Given the description of an element on the screen output the (x, y) to click on. 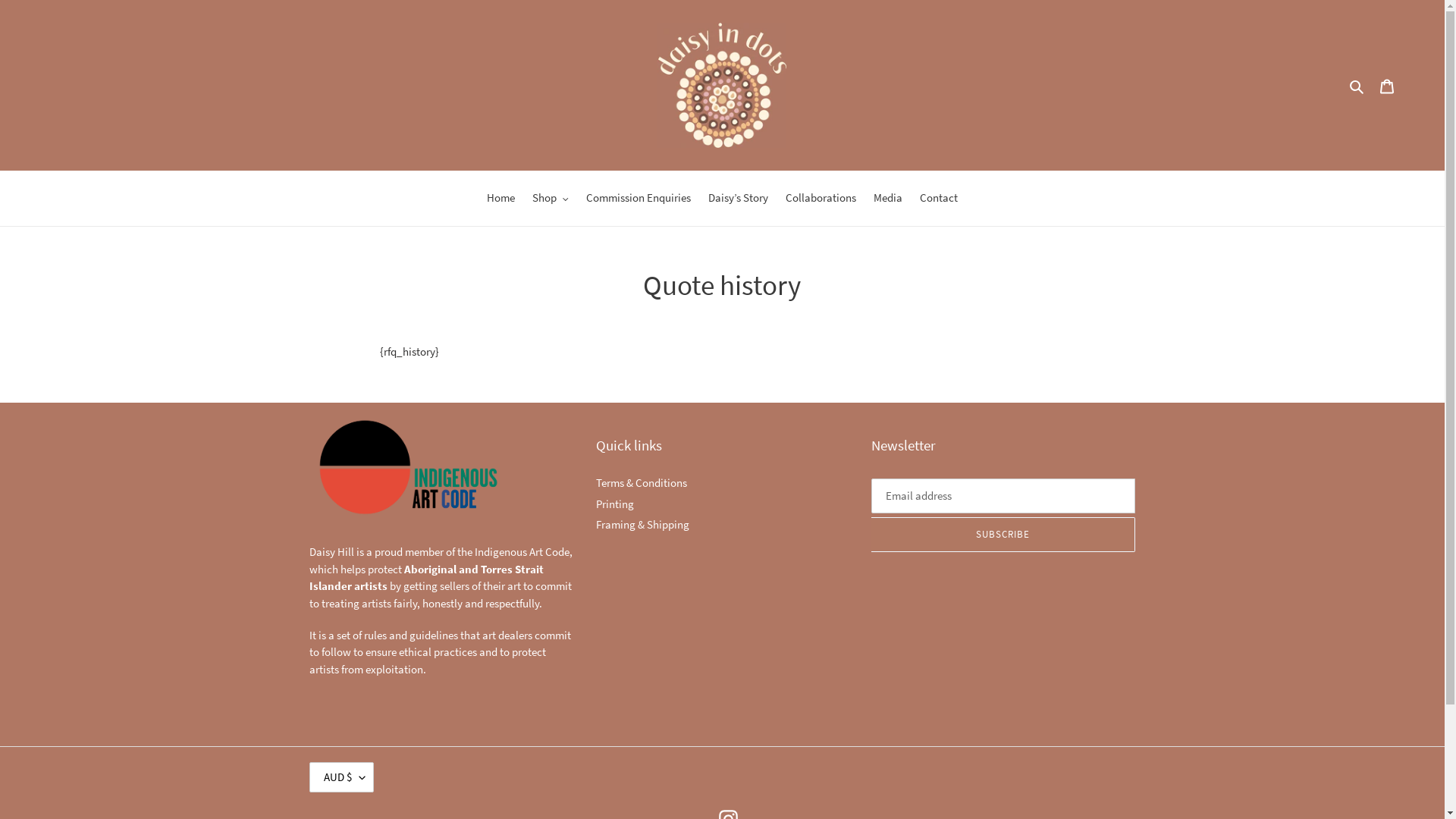
AUD $ Element type: text (341, 777)
SUBSCRIBE Element type: text (1003, 534)
Framing & Shipping Element type: text (642, 524)
Home Element type: text (500, 199)
Search Element type: text (1357, 84)
Cart Element type: text (1386, 85)
Shop Element type: text (550, 199)
Contact Element type: text (938, 199)
Terms & Conditions Element type: text (641, 482)
Printing Element type: text (614, 502)
Commission Enquiries Element type: text (638, 199)
Collaborations Element type: text (820, 199)
Media Element type: text (888, 199)
